Given the description of an element on the screen output the (x, y) to click on. 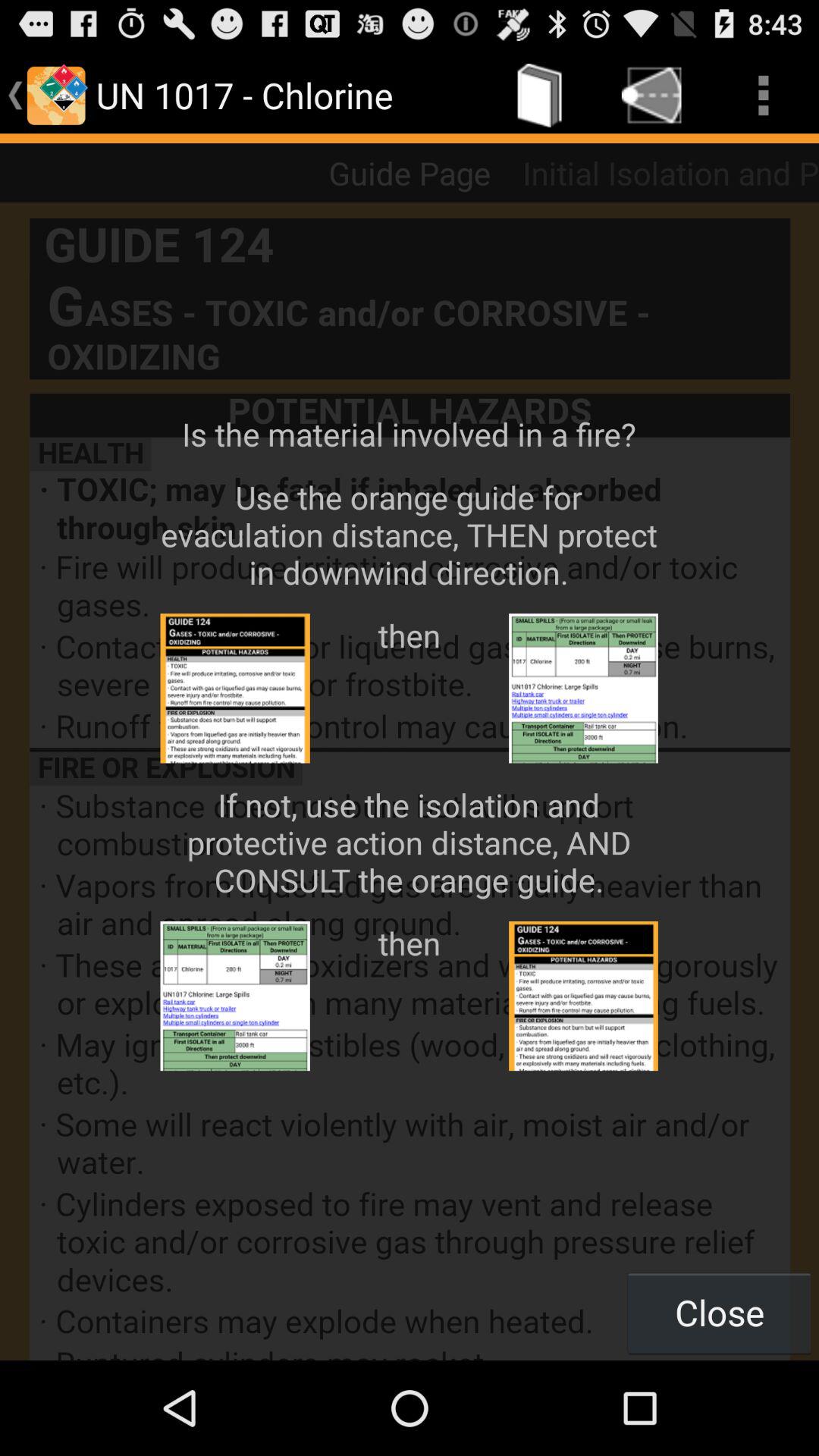
jump to the close (719, 1312)
